Given the description of an element on the screen output the (x, y) to click on. 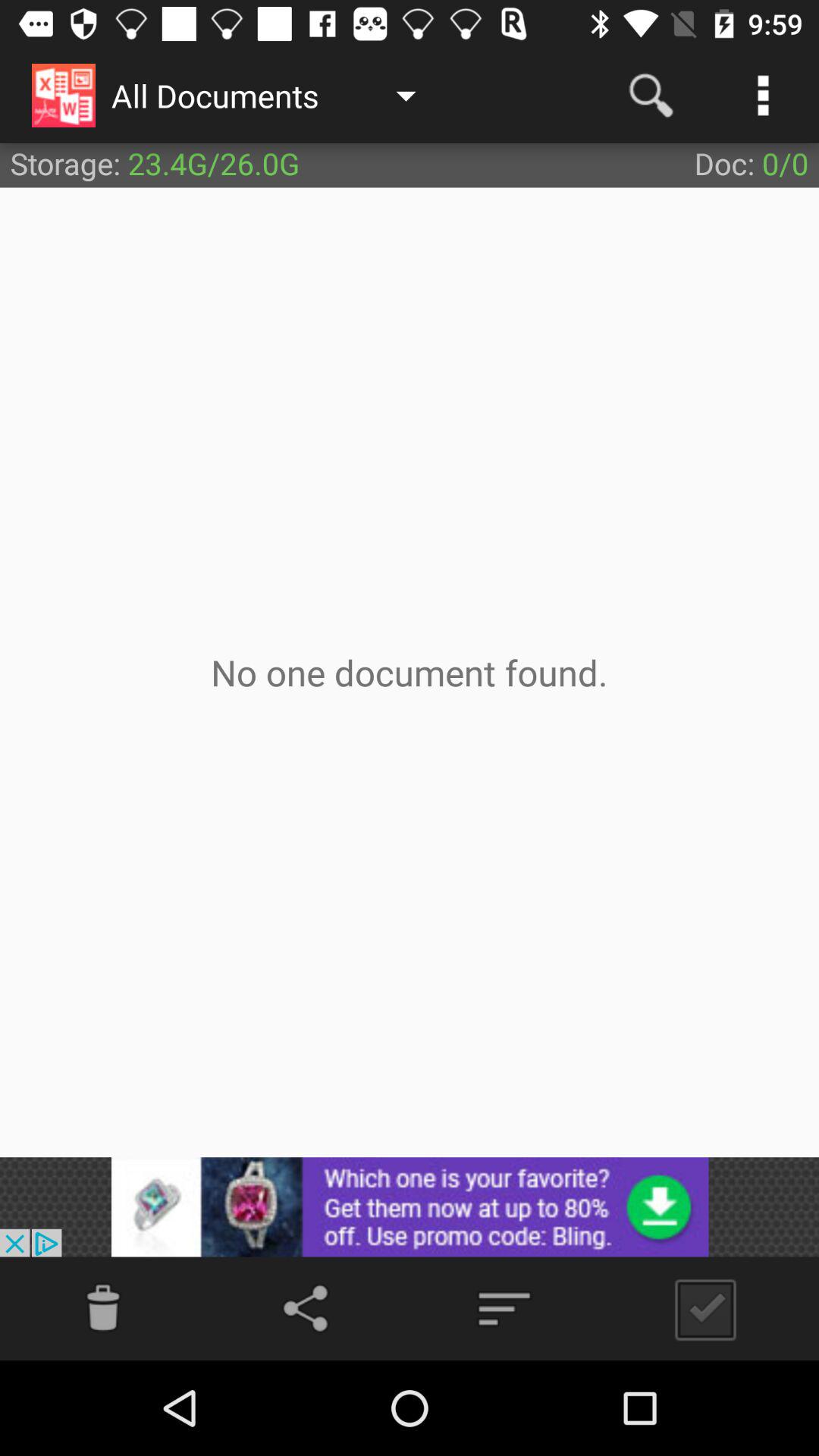
toggle menu option (503, 1308)
